Given the description of an element on the screen output the (x, y) to click on. 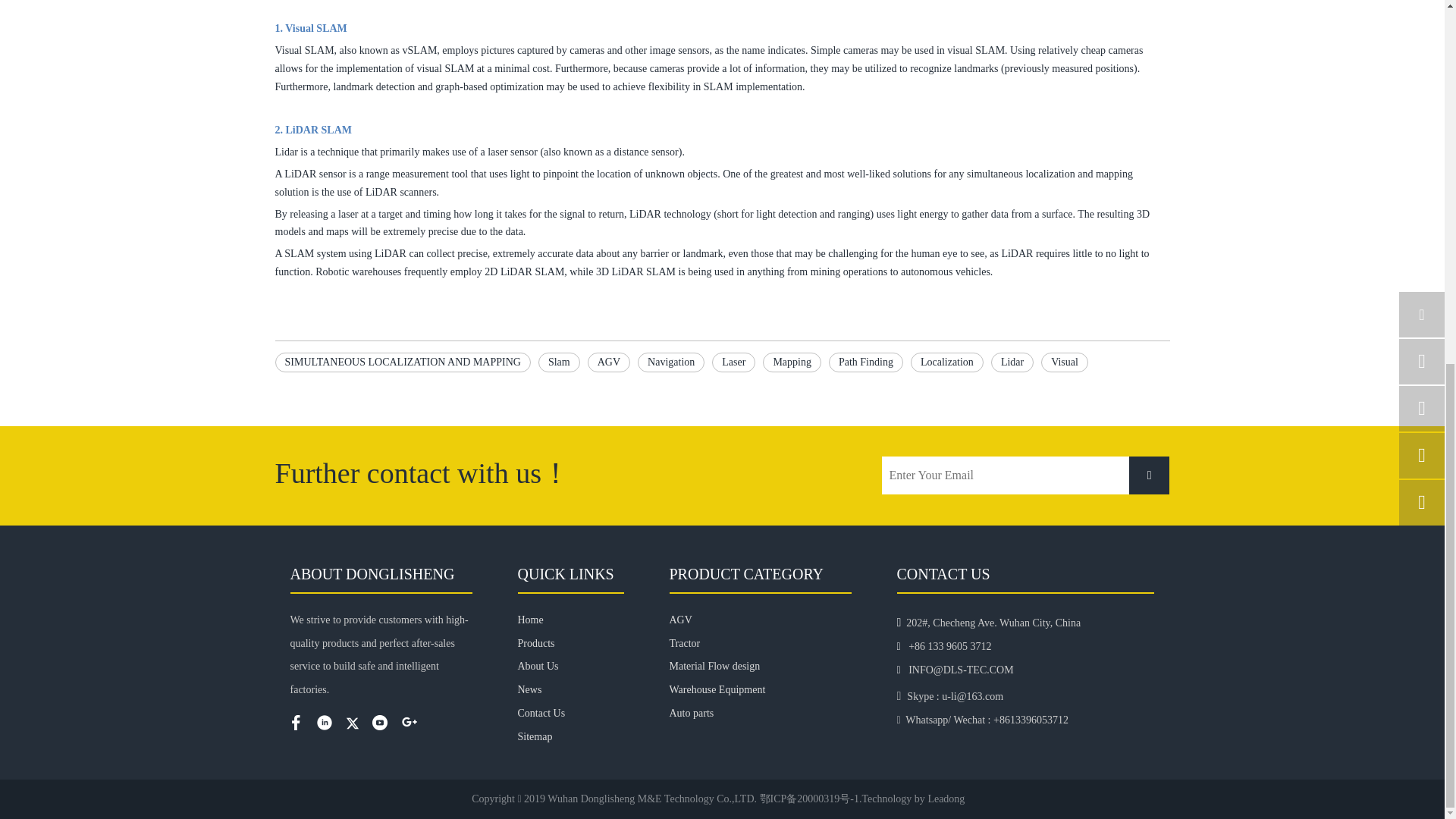
Path Finding (865, 362)
Slam (558, 362)
Navigation (670, 362)
Laser (733, 362)
AGV (609, 362)
AGV (609, 362)
Products (535, 643)
Visual (1064, 362)
Localization (947, 362)
Subscribe (1149, 475)
